Given the description of an element on the screen output the (x, y) to click on. 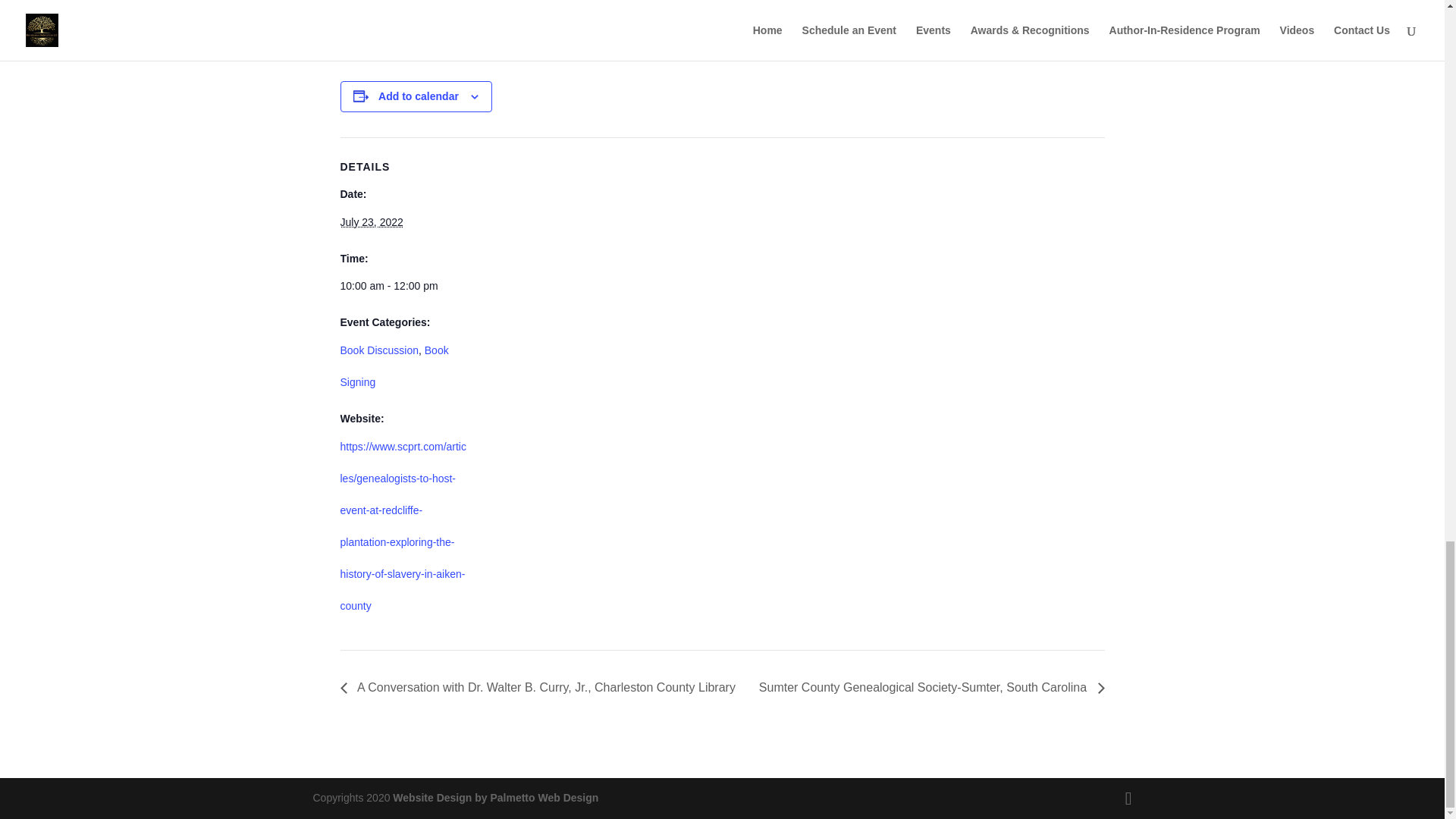
Sumter County Genealogical Society-Sumter, South Carolina (928, 686)
Add to calendar (418, 96)
Book Signing (393, 365)
Book Discussion (379, 349)
southcarolinaparks.com (516, 25)
Website Design by Palmetto Web Design (495, 797)
2022-07-23 (371, 222)
2022-07-23 (403, 286)
